Given the description of an element on the screen output the (x, y) to click on. 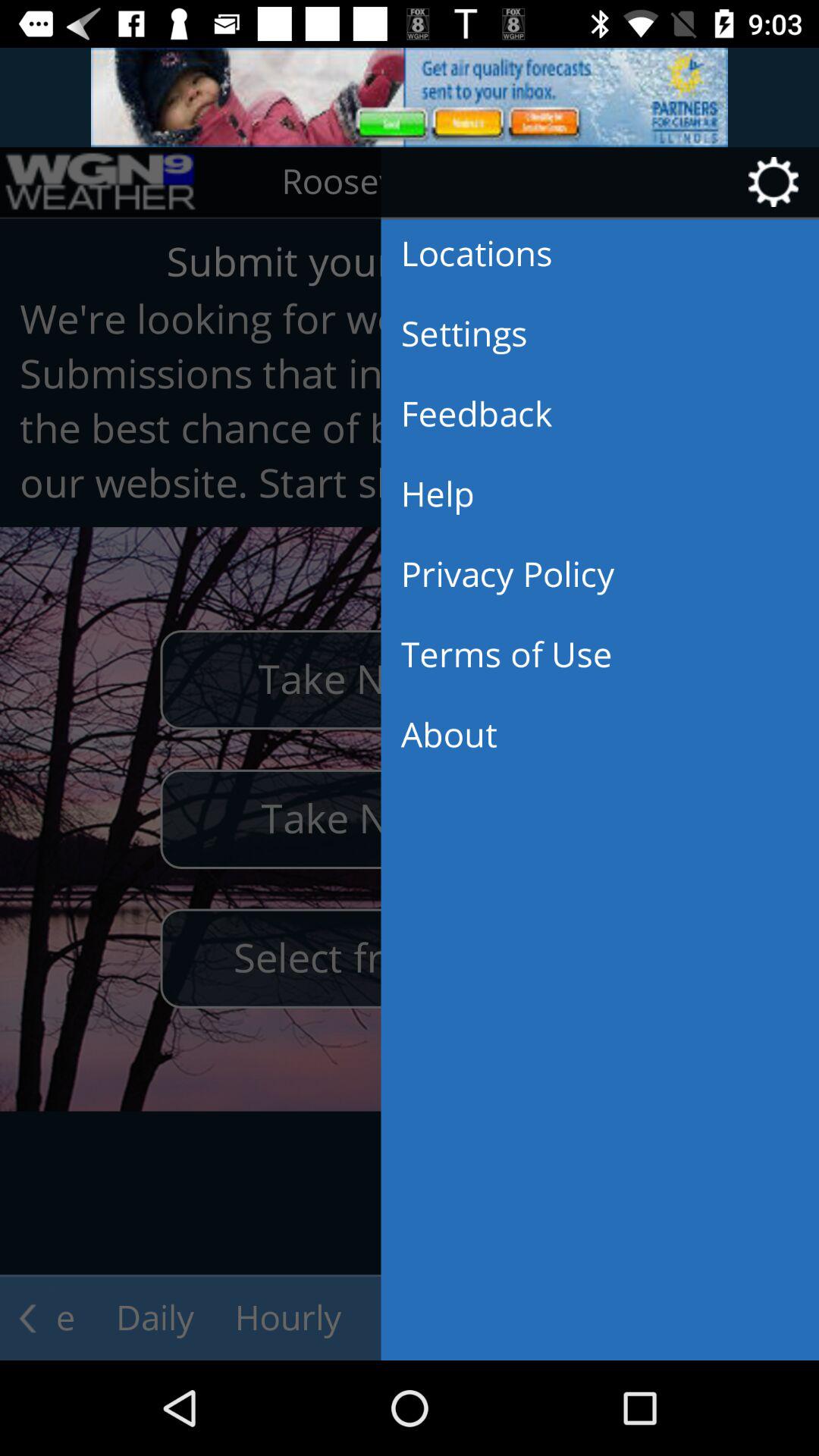
click on the daily on below the page (155, 1318)
